Given the description of an element on the screen output the (x, y) to click on. 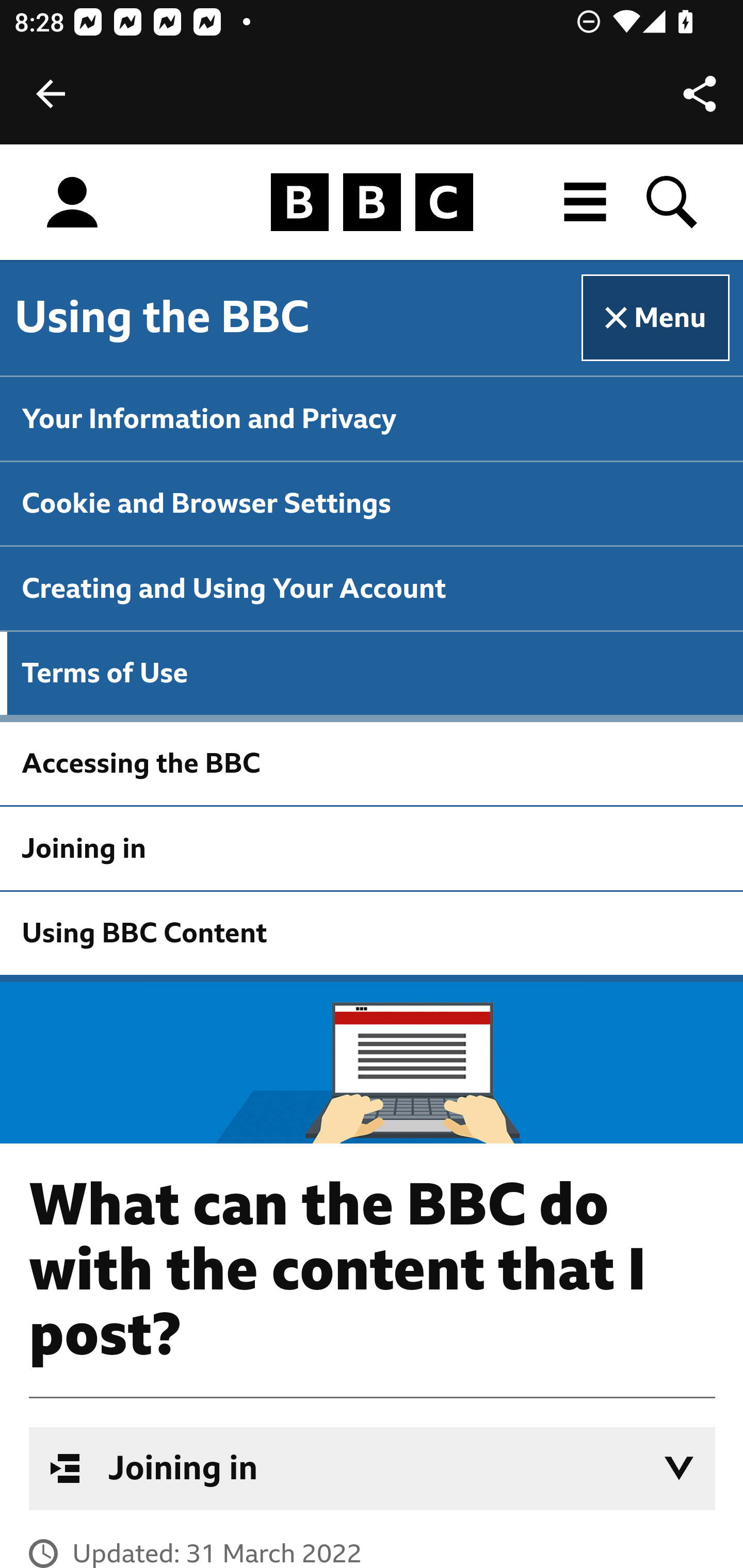
Back (50, 93)
Share (699, 93)
All BBC destinations menu (585, 202)
Search BBC (672, 202)
Sign in (71, 203)
Homepage (371, 203)
Menu (656, 318)
Using the BBC (162, 317)
Open in-page navigation (679, 1468)
